Given the description of an element on the screen output the (x, y) to click on. 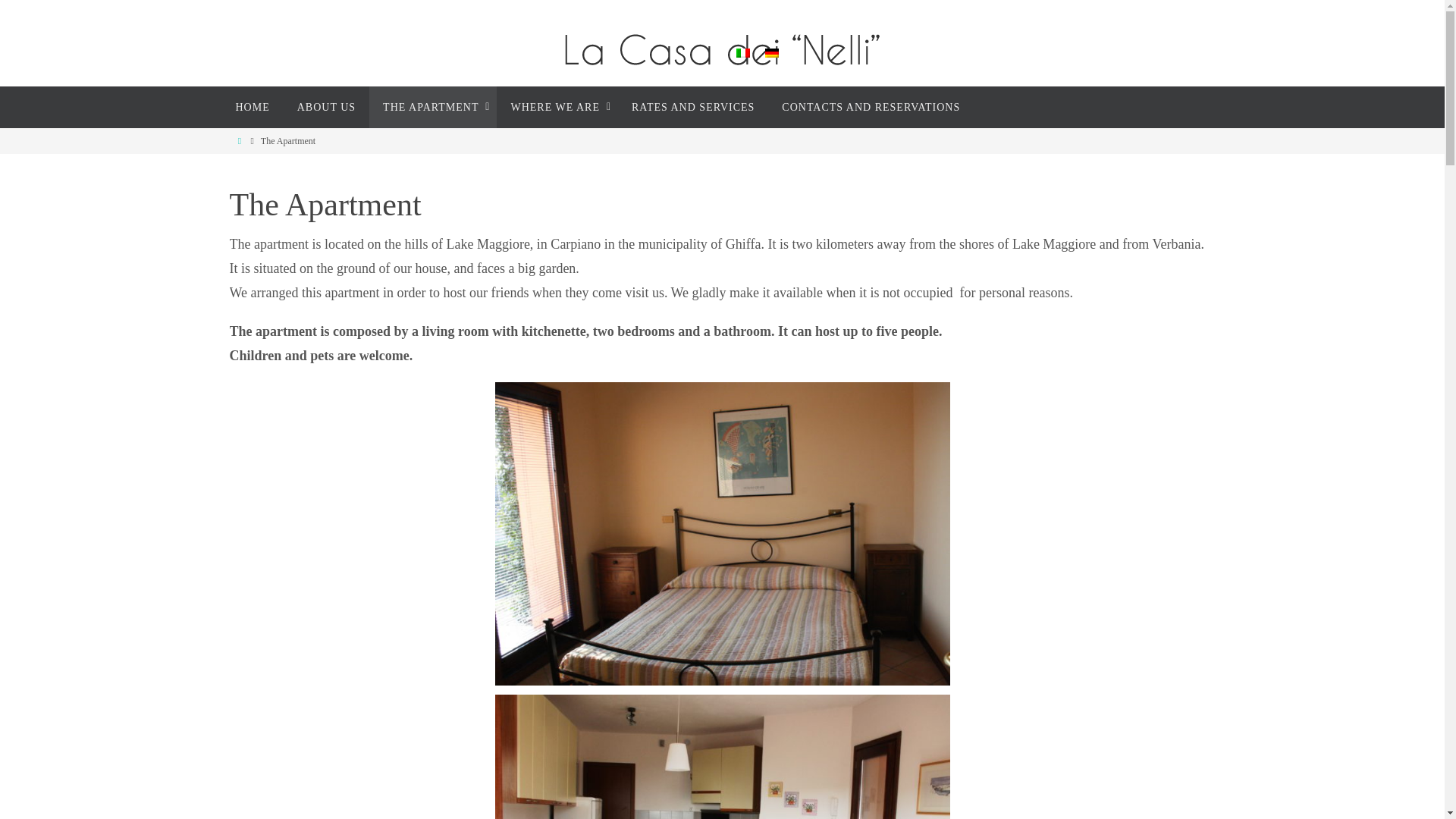
Deutsch (770, 52)
THE APARTMENT (432, 106)
WHERE WE ARE (556, 106)
RATES AND SERVICES (692, 106)
HOME (251, 106)
Italiano (742, 52)
CONTACTS AND RESERVATIONS (871, 106)
ABOUT US (326, 106)
